Given the description of an element on the screen output the (x, y) to click on. 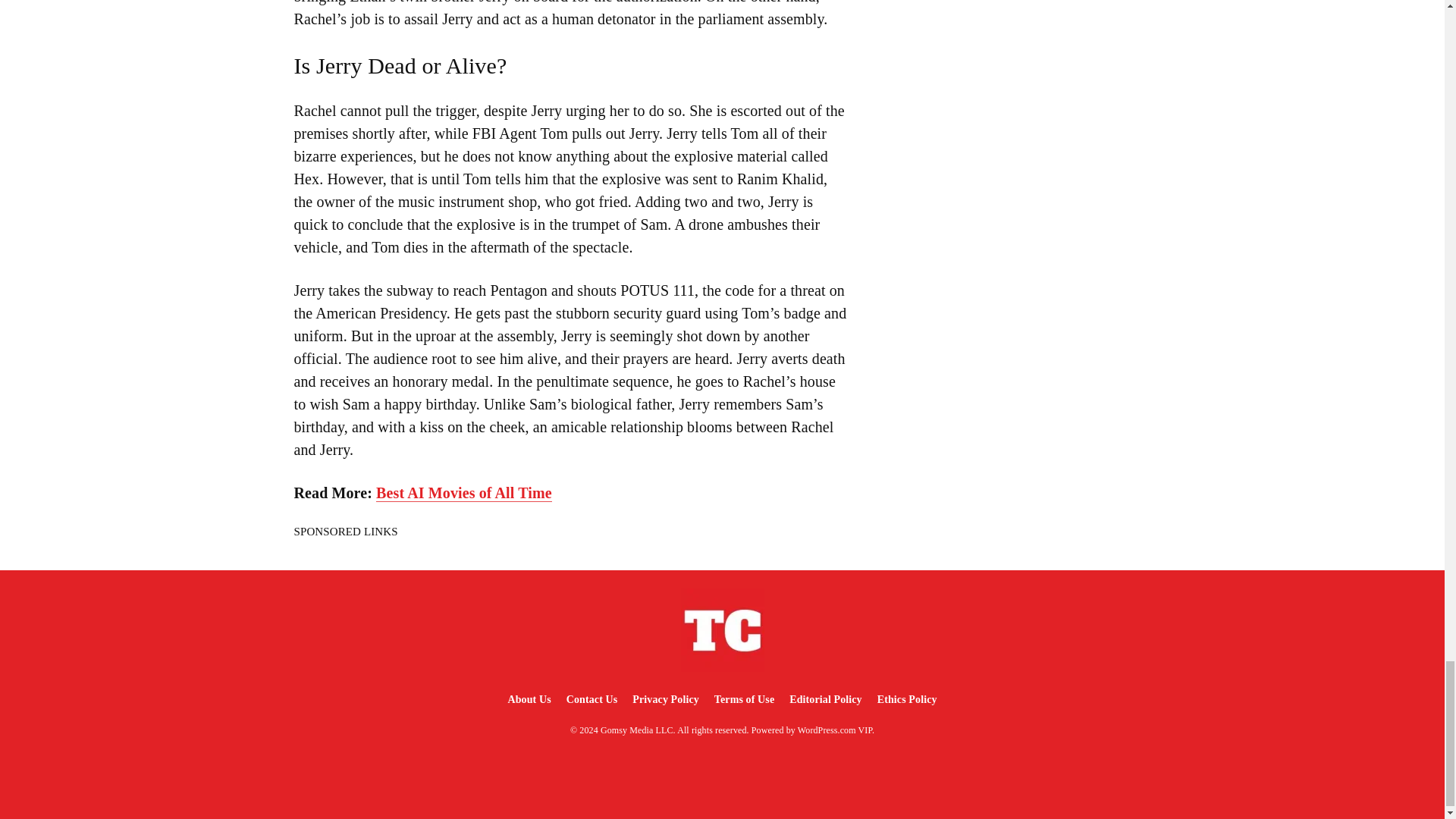
About Us (528, 699)
WordPress.com VIP (834, 729)
Terms of Use (743, 699)
Editorial Policy (825, 699)
Best AI Movies of All Time (463, 493)
Privacy Policy (665, 699)
Contact Us (592, 699)
Ethics Policy (906, 699)
